Given the description of an element on the screen output the (x, y) to click on. 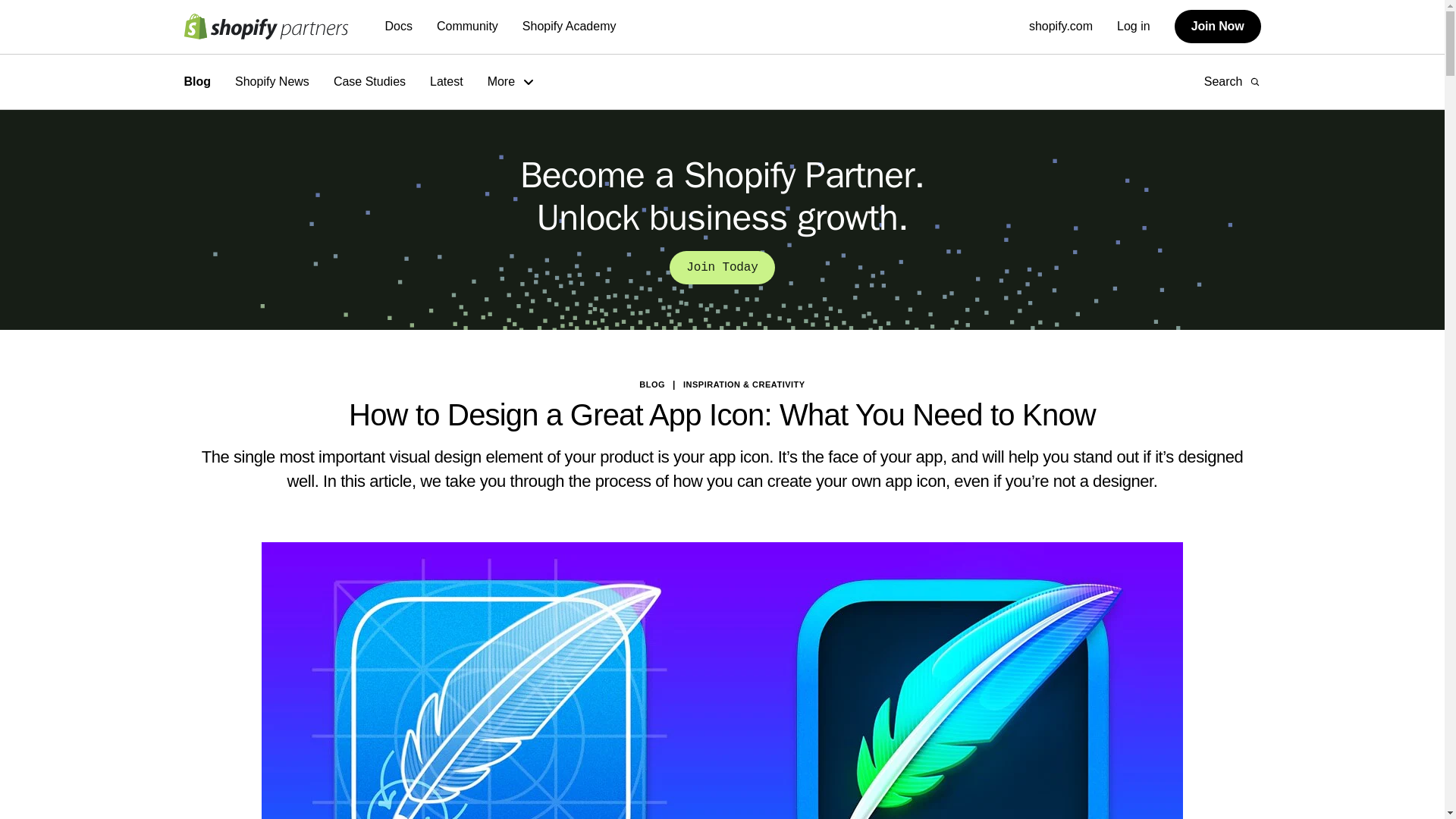
Community (466, 27)
Join Now (1217, 26)
Shopify Academy (568, 27)
shopify.com (1061, 25)
Log in (1133, 25)
More (511, 81)
Case Studies (369, 81)
Shopify News (271, 81)
